Given the description of an element on the screen output the (x, y) to click on. 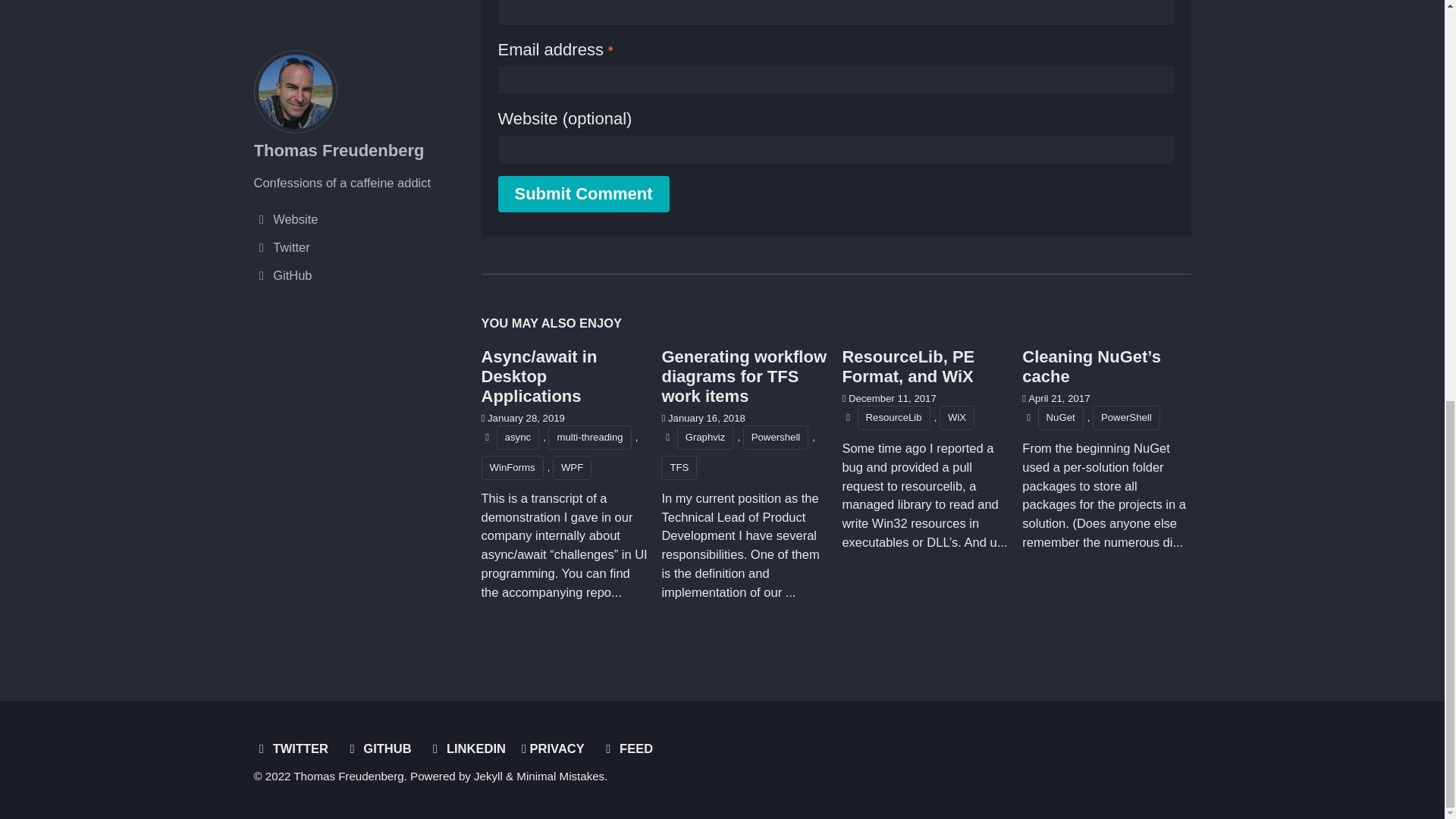
WinForms (511, 467)
WiX (956, 417)
PowerShell (1126, 417)
TFS (679, 467)
WPF (572, 467)
async (517, 437)
ResourceLib, PE Format, and WiX (907, 366)
Powershell (775, 437)
multi-threading (589, 437)
ResourceLib (893, 417)
Graphviz (705, 437)
Generating workflow diagrams for TFS work items (744, 376)
Submit Comment (582, 194)
NuGet (1060, 417)
